Given the description of an element on the screen output the (x, y) to click on. 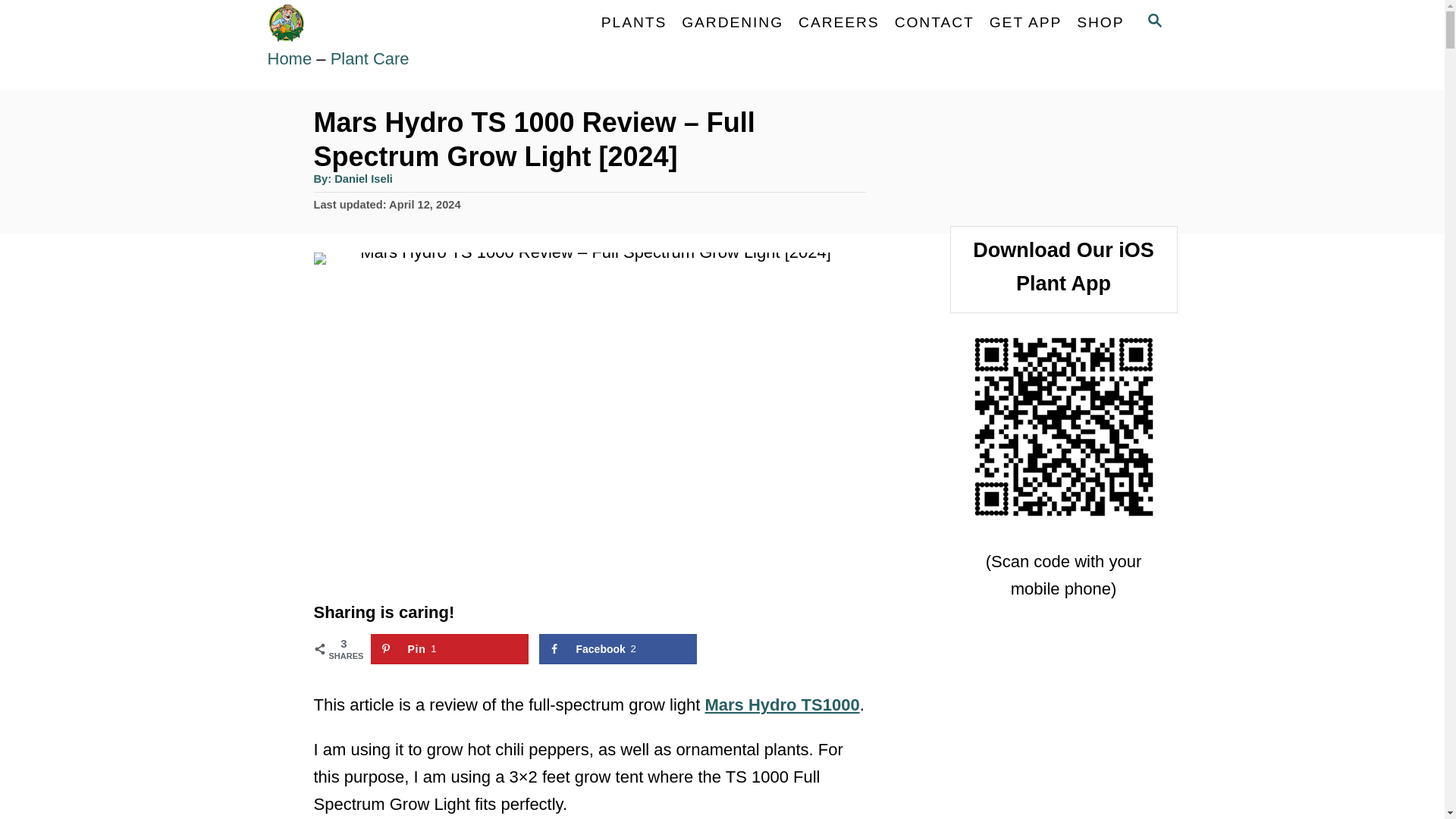
PLANTS (634, 22)
SEARCH (1153, 22)
Plantophiles (403, 22)
Save to Pinterest (448, 648)
CONTACT (933, 22)
Share on Facebook (617, 648)
GARDENING (732, 22)
CAREERS (838, 22)
